Given the description of an element on the screen output the (x, y) to click on. 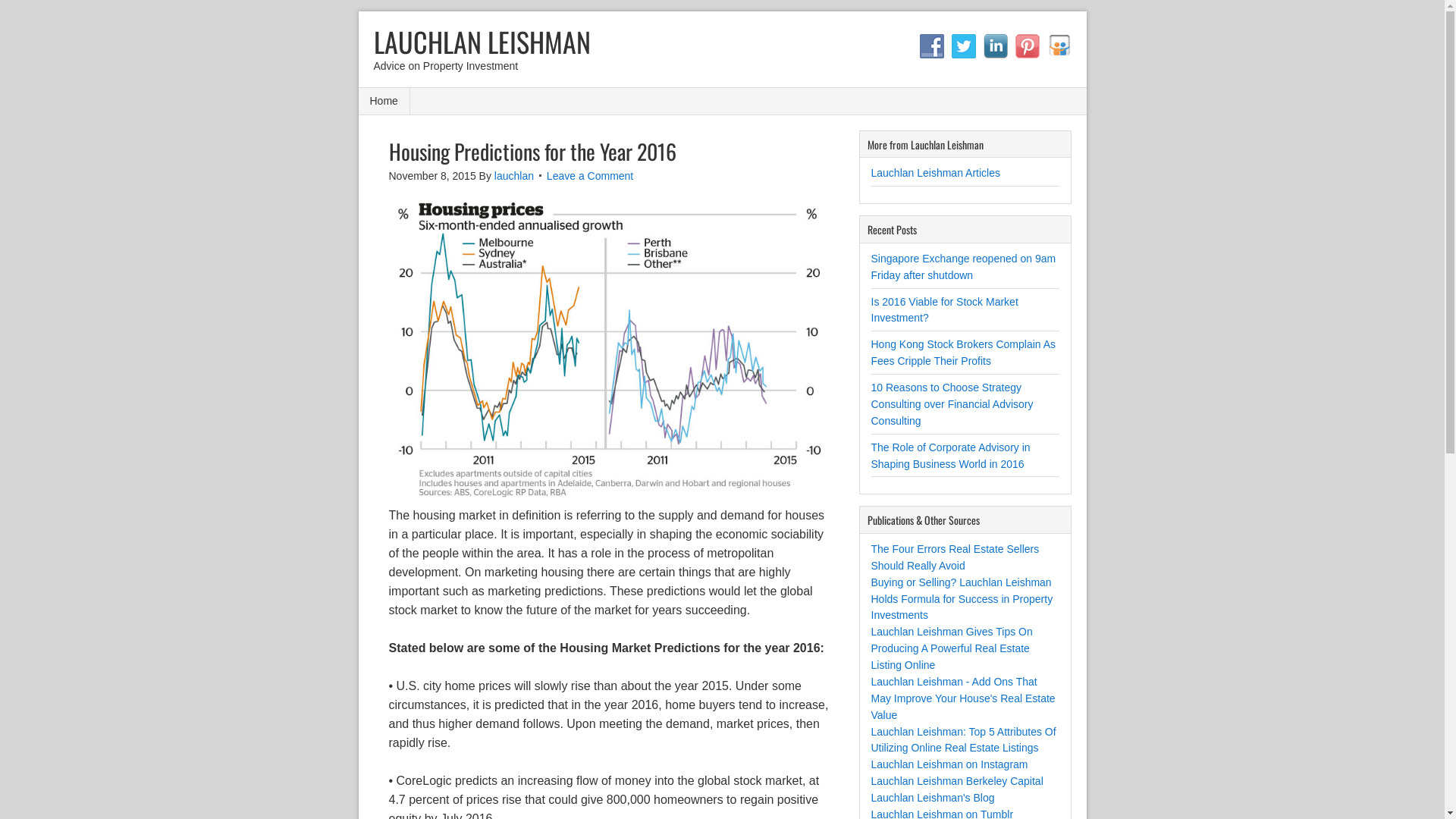
lauchlan Element type: text (513, 175)
Singapore Exchange reopened on 9am Friday after shutdown Element type: text (962, 266)
Housing Predictions for the Year 2016 Element type: text (531, 150)
Lauchlan Leishman Articles Element type: text (934, 172)
Lauchlan Leishman on Instagram Element type: text (948, 764)
Lauchlan Leishman Berkeley Capital Element type: text (956, 781)
Home Element type: text (383, 100)
Lauchlan Leishman Pinterest Element type: hover (1026, 46)
Is 2016 Viable for Stock Market Investment? Element type: text (943, 309)
Lauchlan Leishman Twitter Element type: hover (962, 46)
The Four Errors Real Estate Sellers Should Really Avoid Element type: text (954, 556)
LAUCHLAN LEISHMAN Element type: text (473, 41)
Lauchlan Leishman LinkedIn Element type: hover (994, 46)
Lauchlan Leishman SlideShare Element type: hover (1058, 46)
Lauchlan Leishman Facebook Element type: hover (931, 46)
Lauchlan Leishman's Blog Element type: text (932, 797)
Leave a Comment Element type: text (589, 175)
